Given the description of an element on the screen output the (x, y) to click on. 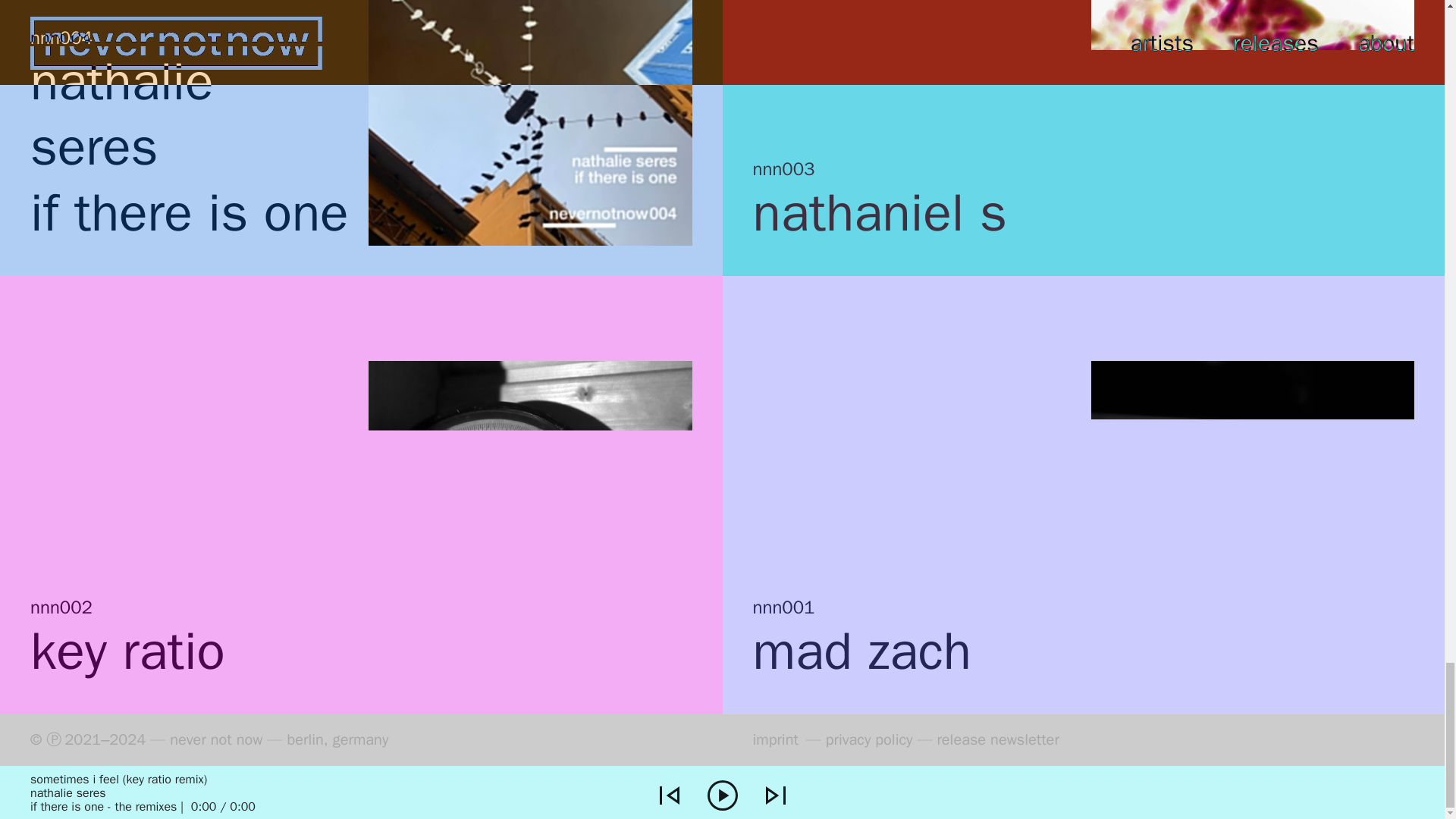
privacy policy (868, 739)
